Given the description of an element on the screen output the (x, y) to click on. 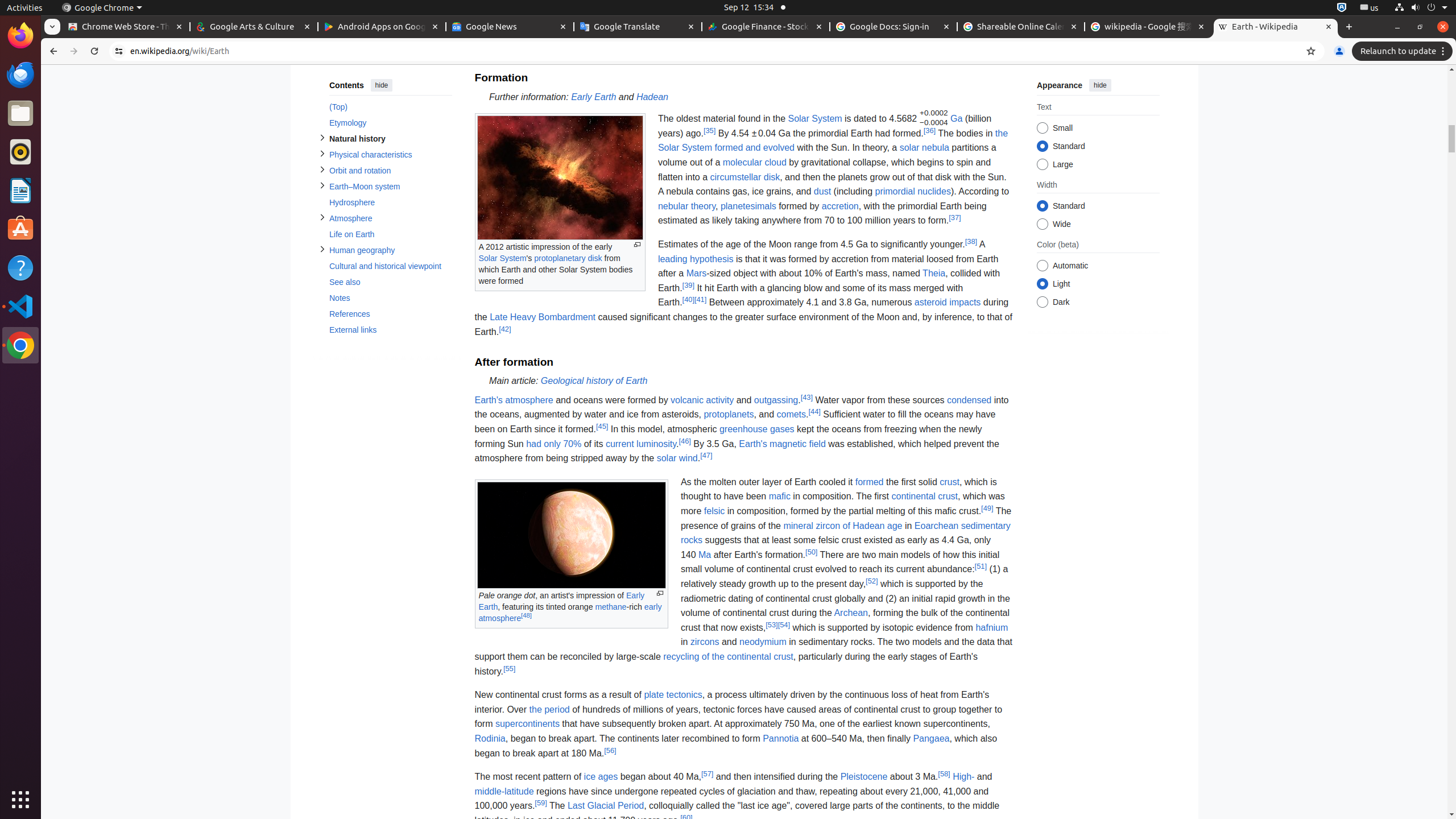
Archean Element type: link (850, 612)
Google Chrome Element type: push-button (20, 344)
Help Element type: push-button (20, 267)
System Element type: menu (1420, 7)
[59] Element type: link (540, 802)
